Given the description of an element on the screen output the (x, y) to click on. 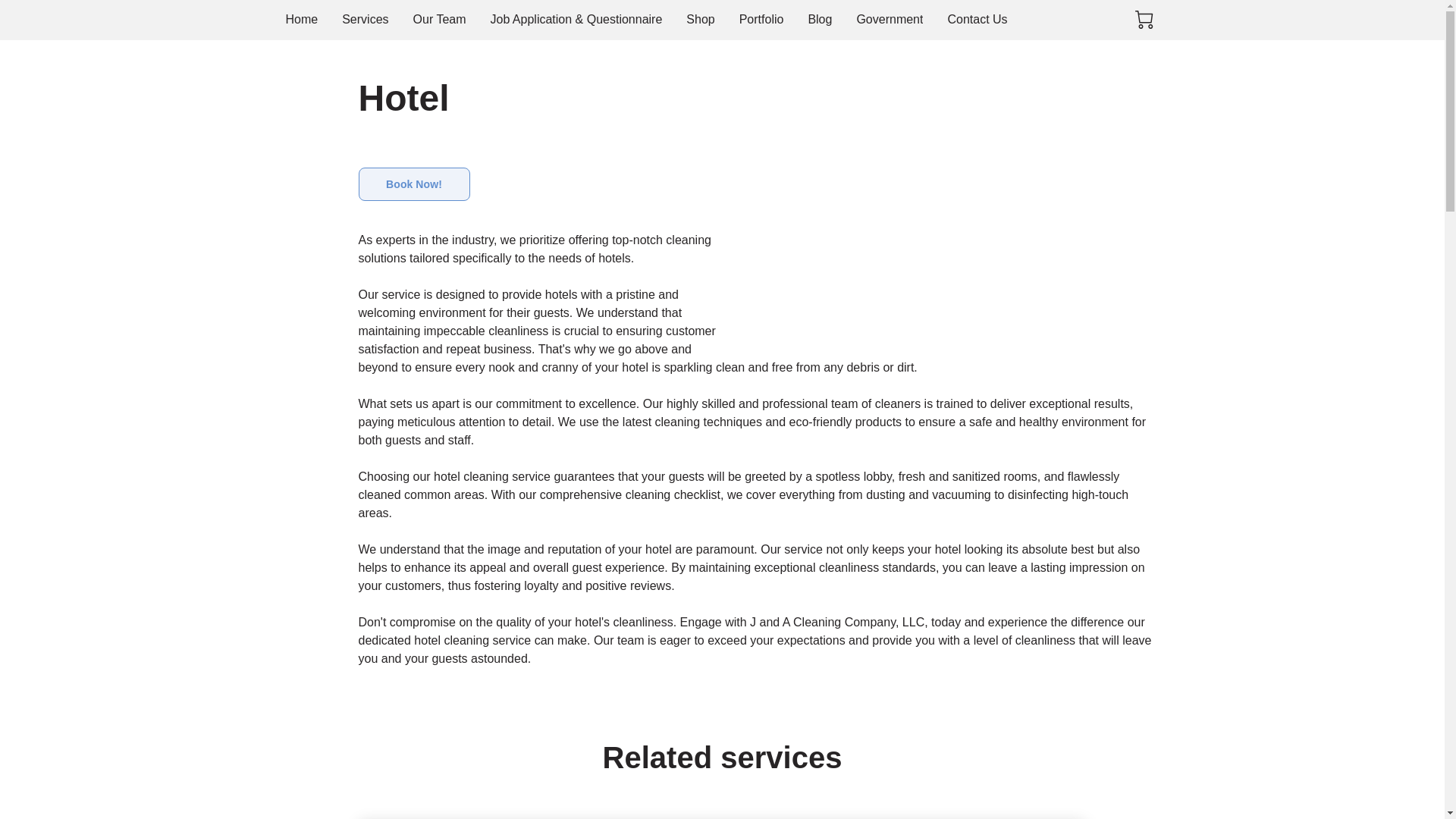
Book Now! (413, 183)
Contact Us (977, 20)
Government (889, 20)
Services (365, 20)
Our Team (439, 20)
0 (1143, 19)
Portfolio (761, 20)
